Given the description of an element on the screen output the (x, y) to click on. 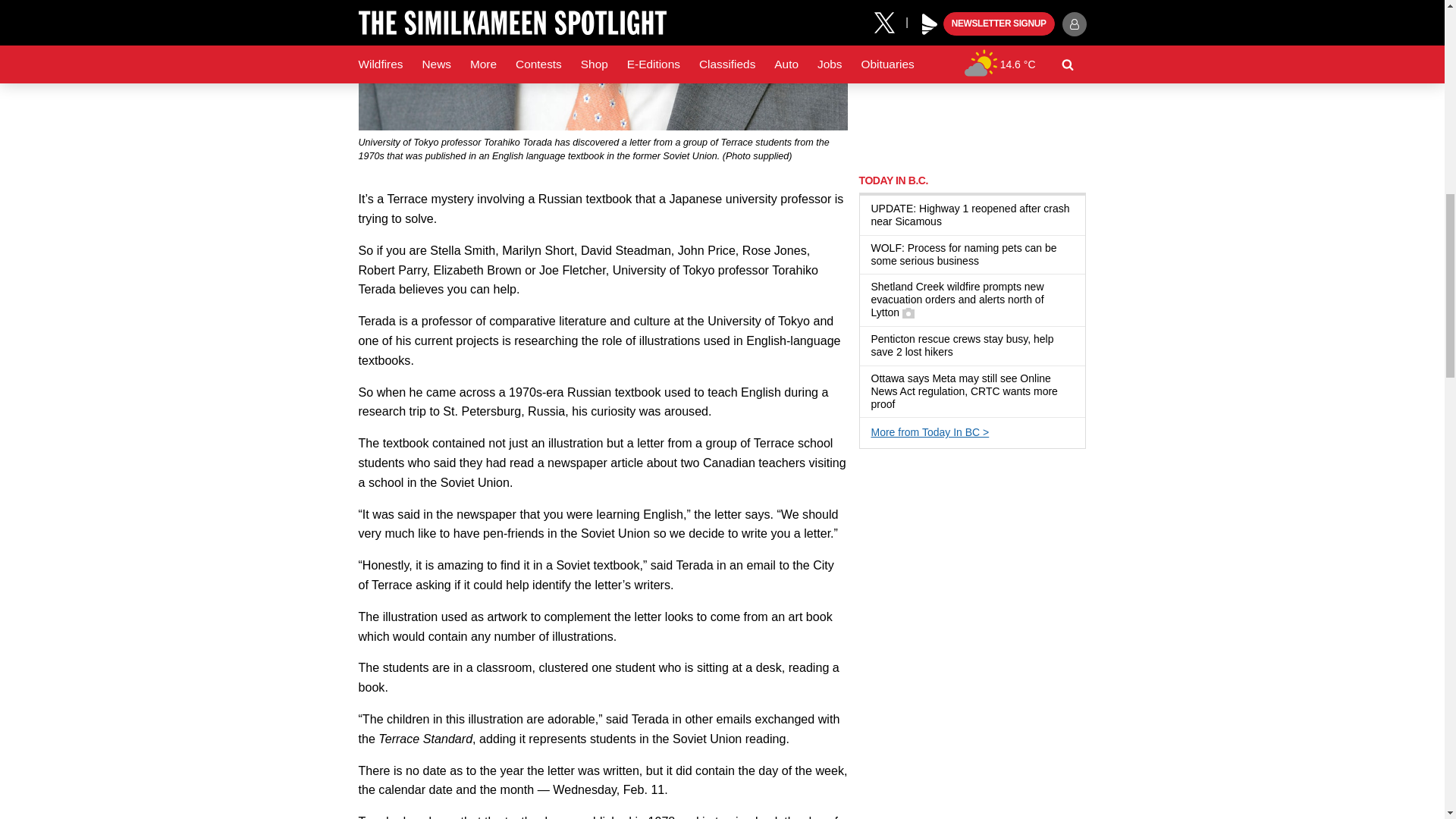
Has a gallery (908, 313)
